Given the description of an element on the screen output the (x, y) to click on. 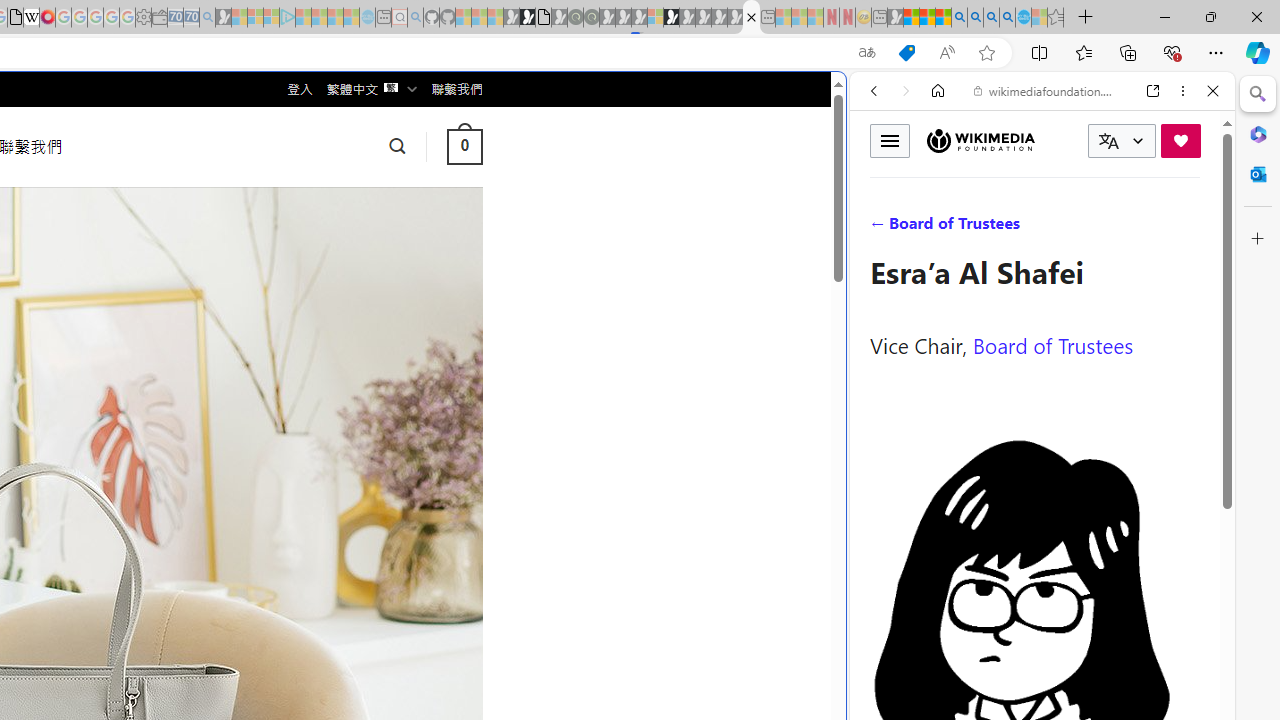
Favorites (1083, 52)
SEARCH TOOLS (1093, 228)
Favorites - Sleeping (1055, 17)
Search the web (1051, 137)
Split screen (1039, 52)
Microsoft account | Privacy - Sleeping (271, 17)
Preferences (1189, 228)
 0  (464, 146)
wikimediafoundation.org (1045, 90)
New Tab (1085, 17)
